Given the description of an element on the screen output the (x, y) to click on. 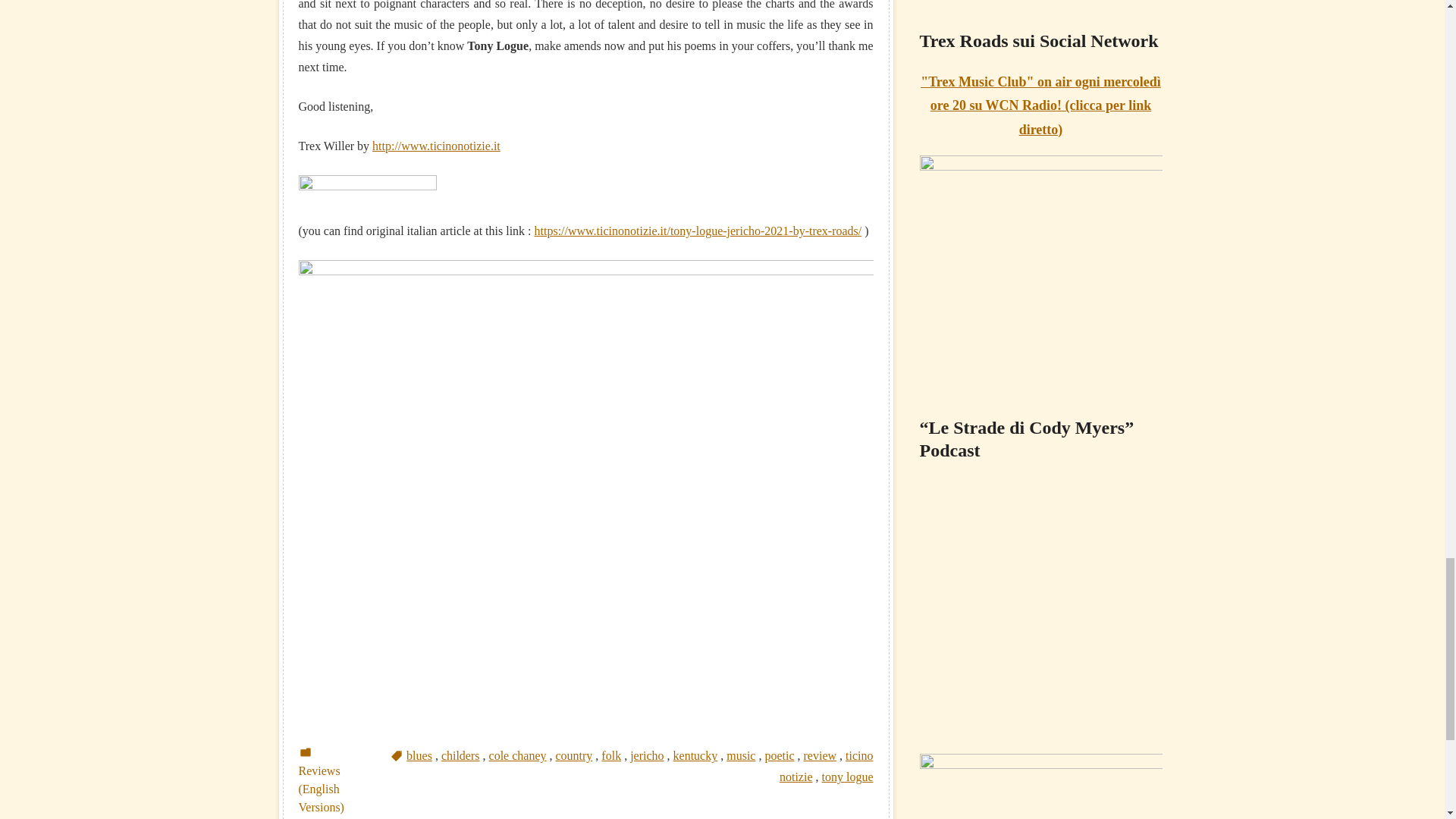
cole chaney (518, 755)
folk (611, 755)
jericho (646, 755)
kentucky (694, 755)
blues (419, 755)
review (820, 755)
poetic (778, 755)
country (573, 755)
childers (460, 755)
tony logue (847, 776)
